Given the description of an element on the screen output the (x, y) to click on. 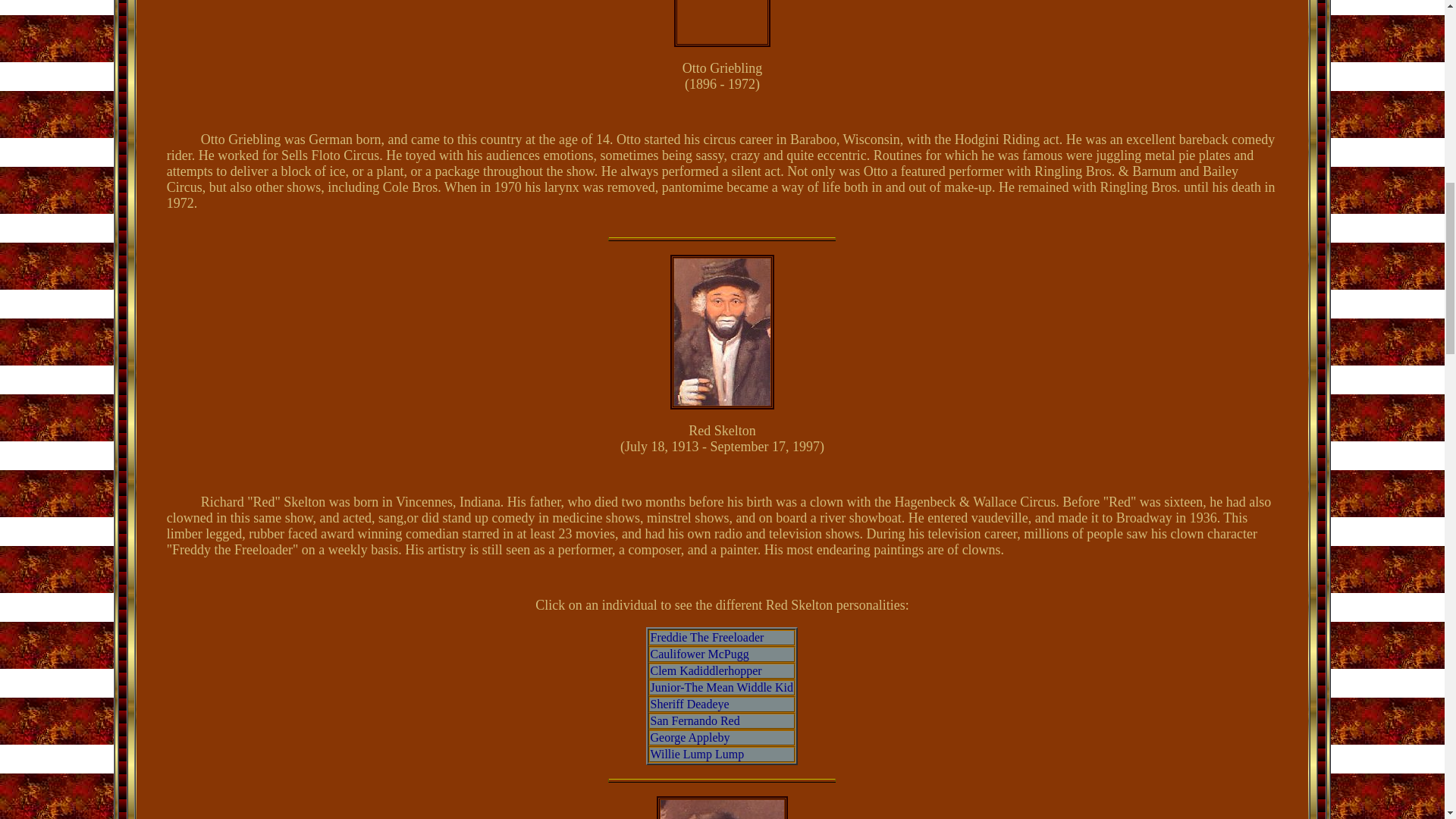
Junior-The Mean Widdle Kid (720, 686)
George Appleby (689, 737)
Freddie The Freeloader (705, 636)
Willie Lump Lump (696, 753)
Otto Griebling (722, 21)
San Fernando Red (694, 720)
Sheriff Deadeye (689, 703)
Divider line between images and statements (721, 780)
Caulifower McPugg (698, 653)
Divider line between images and statements (721, 238)
Emmett Kelly Sr. (722, 809)
Clem Kadiddlerhopper (705, 670)
